Given the description of an element on the screen output the (x, y) to click on. 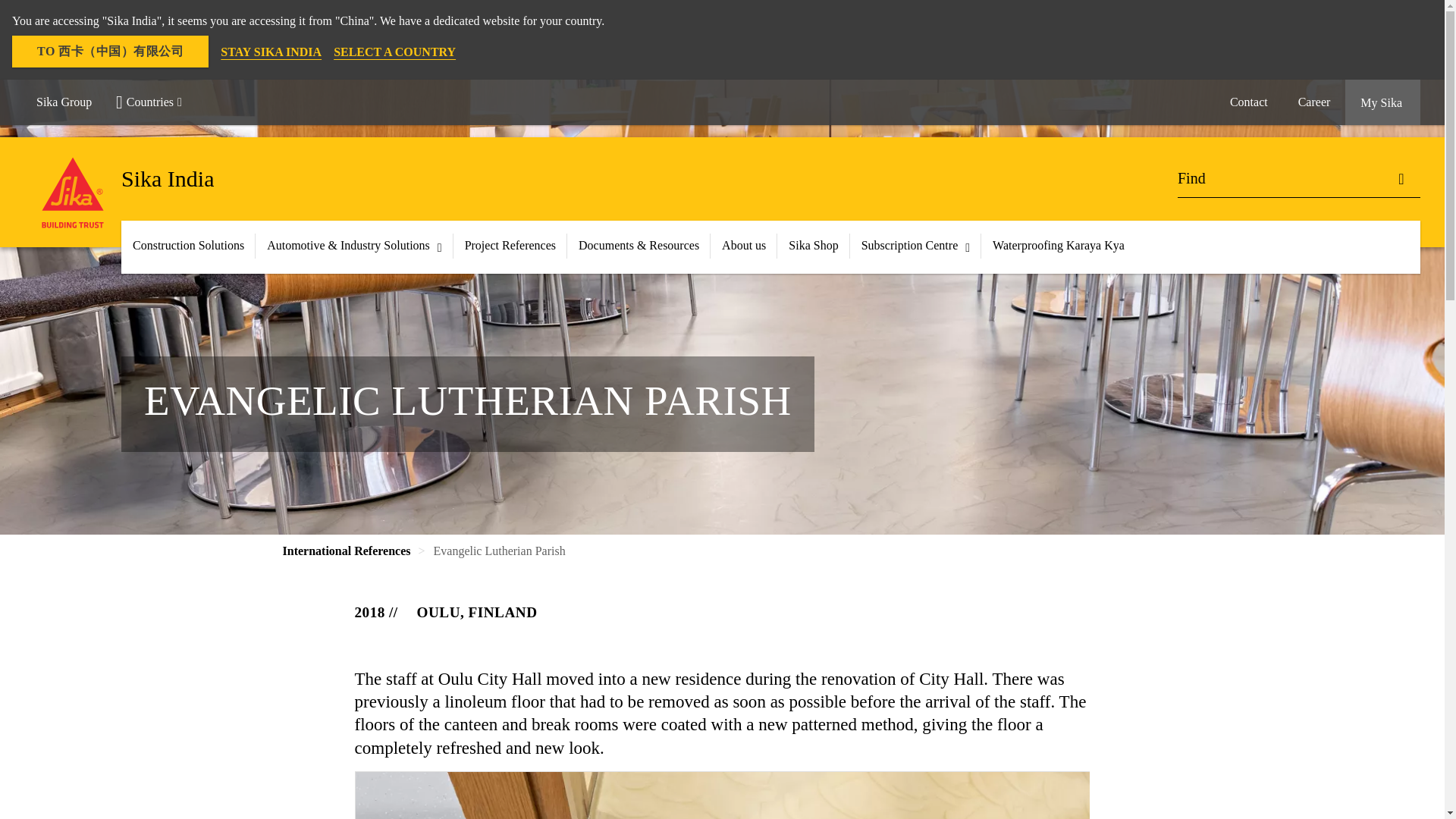
My Sika  (1383, 102)
Sika Logo (72, 192)
Career (1313, 102)
Sika Group (63, 102)
Contact (1248, 102)
Countries (155, 102)
STAY SIKA INDIA (271, 51)
SELECT A COUNTRY (394, 51)
